Given the description of an element on the screen output the (x, y) to click on. 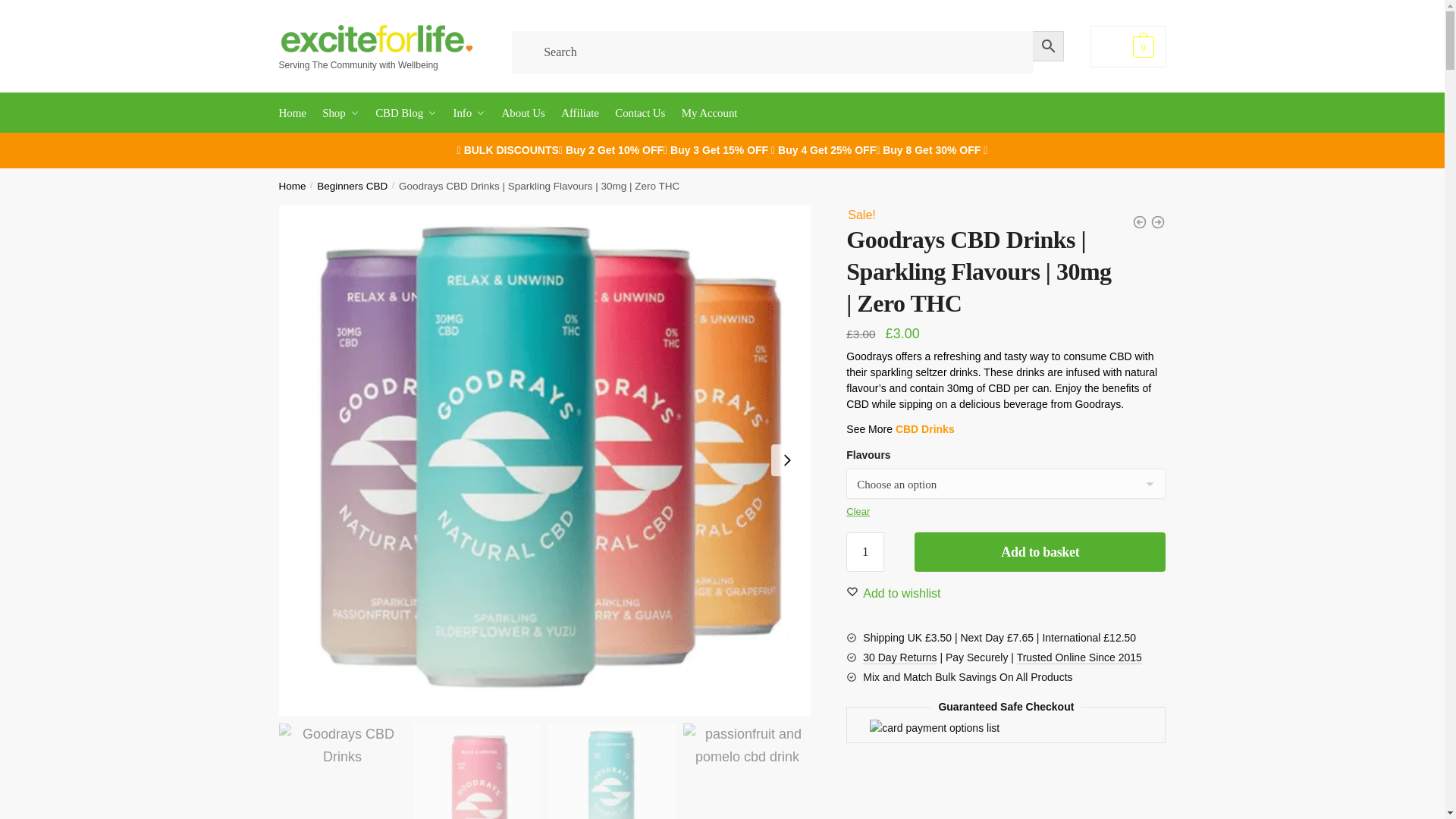
raspberry and guava cbd drink (477, 771)
CBD Blog (405, 112)
1 (864, 551)
Elderflower and Yuzu CBD Drink (611, 771)
View your shopping cart (1128, 46)
Info (469, 112)
passionfruit and pomelo cbd drink (746, 771)
Shop (340, 112)
Goodrays CBD Drinks (342, 771)
